Given the description of an element on the screen output the (x, y) to click on. 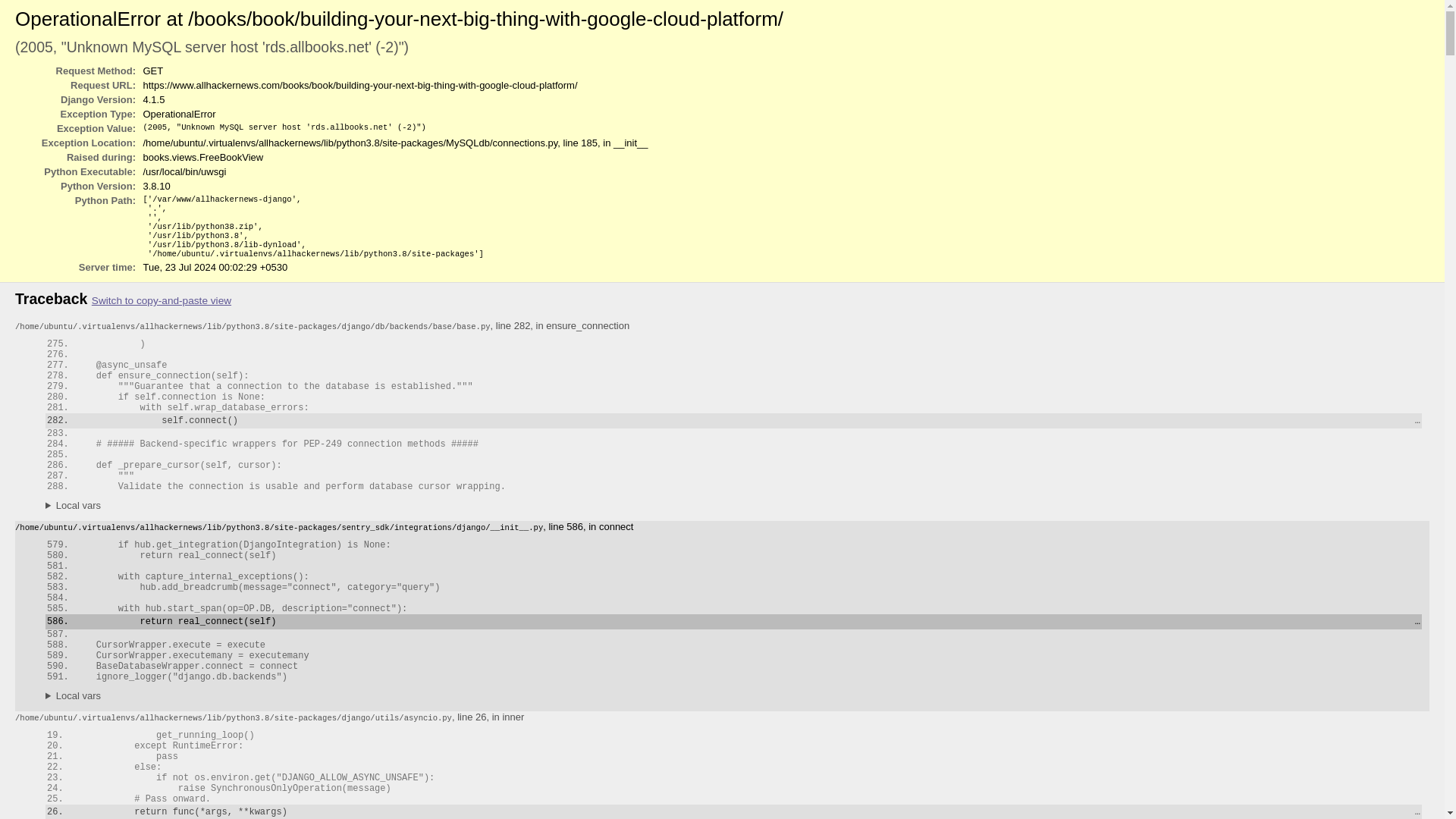
Switch to copy-and-paste view (161, 300)
